Given the description of an element on the screen output the (x, y) to click on. 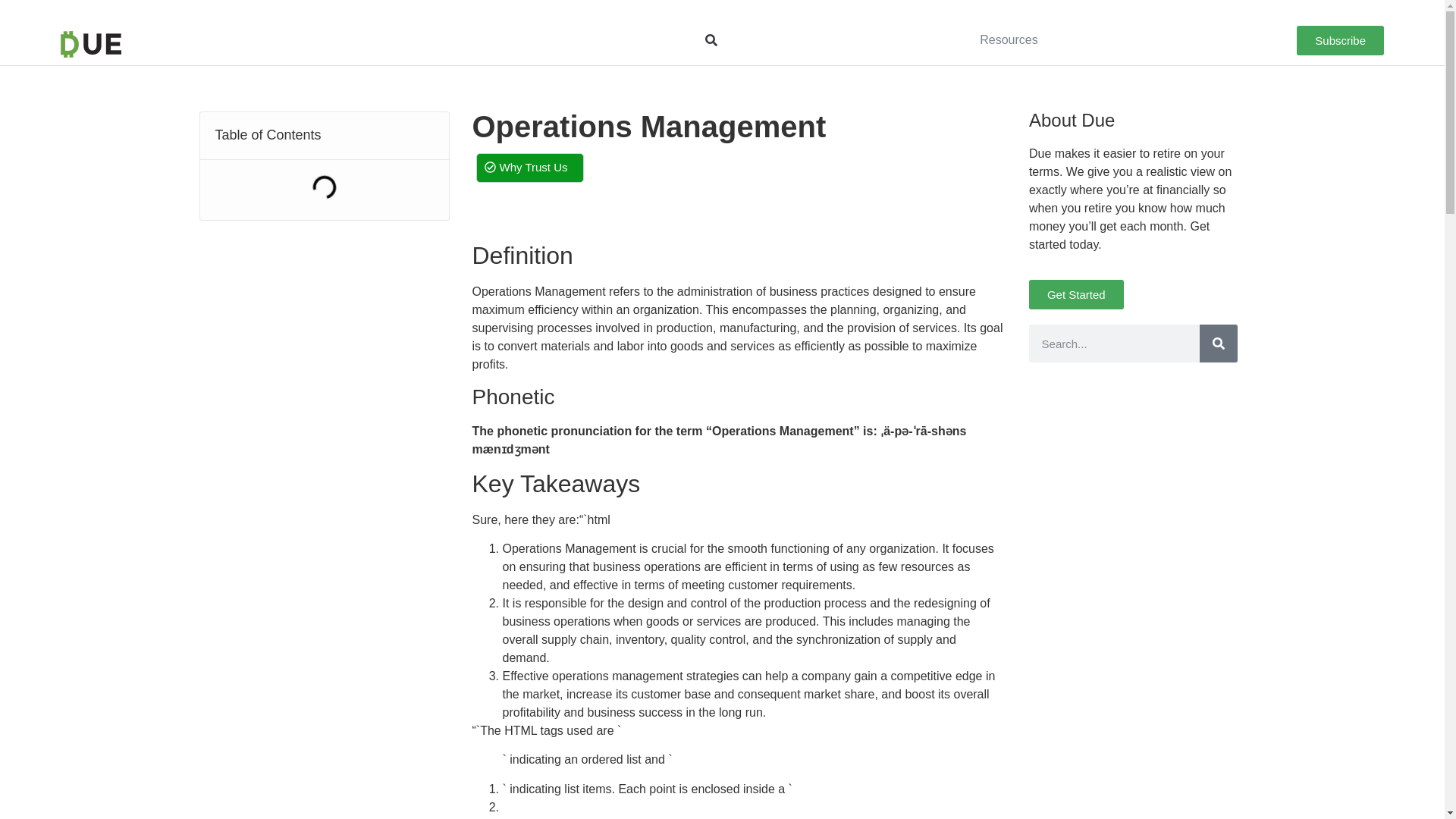
Why Trust Us (529, 167)
Get Started (1076, 294)
Resources (1007, 39)
Subscribe (1340, 40)
